Given the description of an element on the screen output the (x, y) to click on. 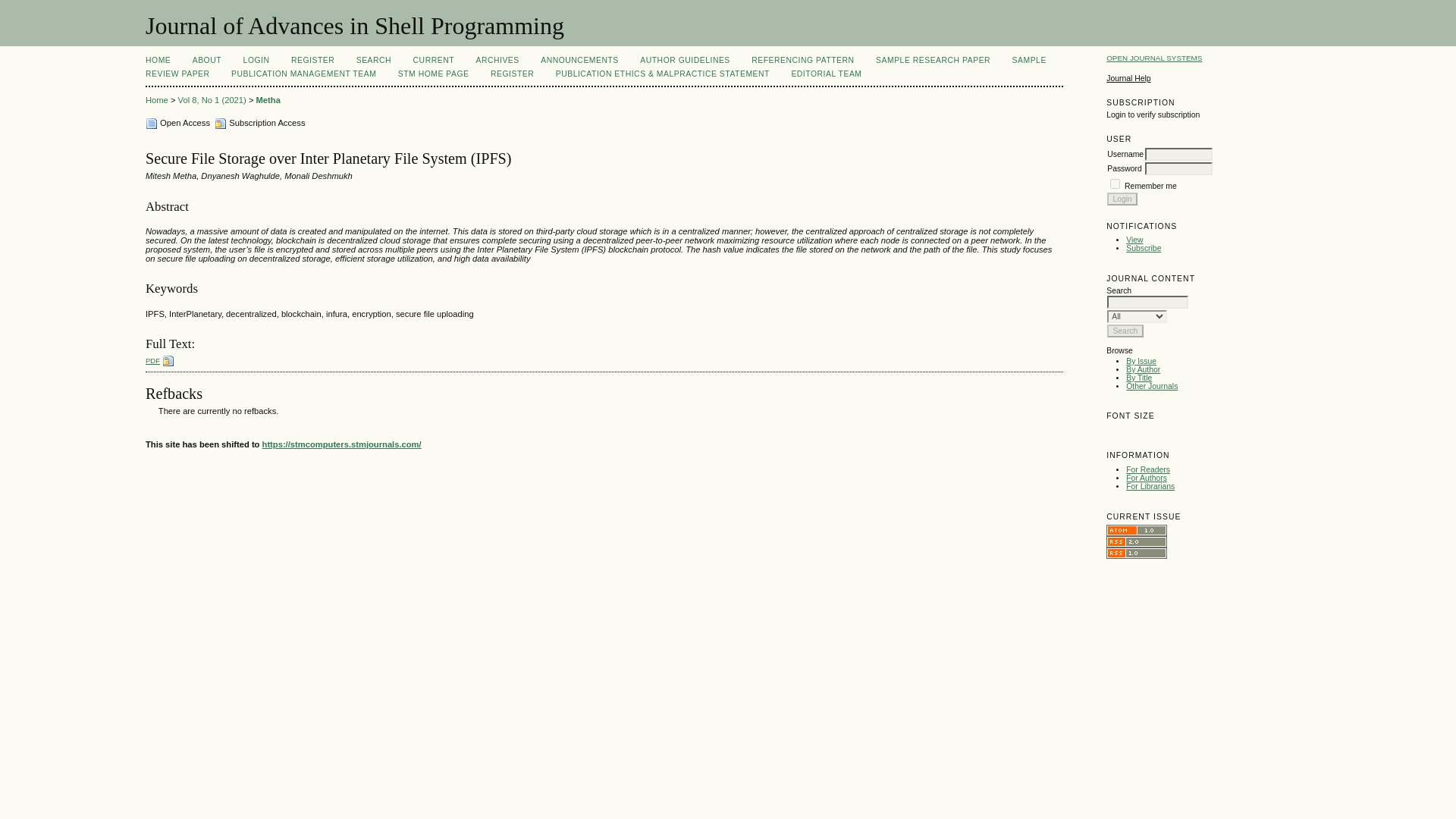
Home (156, 99)
Journal Help (1128, 78)
LOGIN (256, 60)
By Author (1142, 369)
For Authors (1146, 478)
View (1133, 239)
Subscribe (1142, 248)
For Readers (1147, 470)
ANNOUNCEMENTS (579, 60)
AUTHOR GUIDELINES (685, 60)
